Given the description of an element on the screen output the (x, y) to click on. 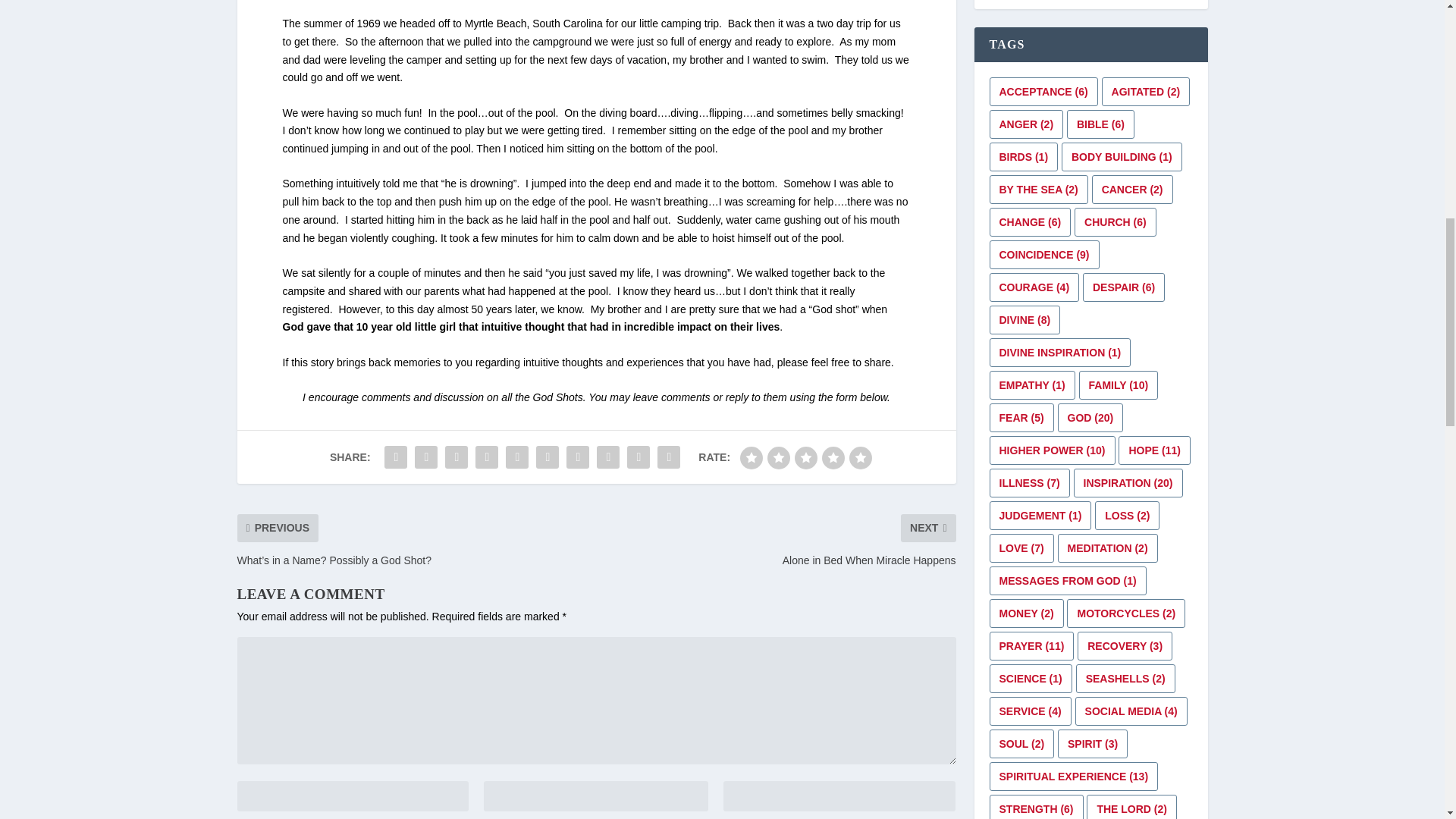
Share "Intuitively Knowing Saves a Life" via Buffer (577, 457)
Share "Intuitively Knowing Saves a Life" via Facebook (395, 457)
Share "Intuitively Knowing Saves a Life" via Tumblr (486, 457)
Share "Intuitively Knowing Saves a Life" via Twitter (425, 457)
Share "Intuitively Knowing Saves a Life" via LinkedIn (547, 457)
Share "Intuitively Knowing Saves a Life" via Pinterest (517, 457)
